Given the description of an element on the screen output the (x, y) to click on. 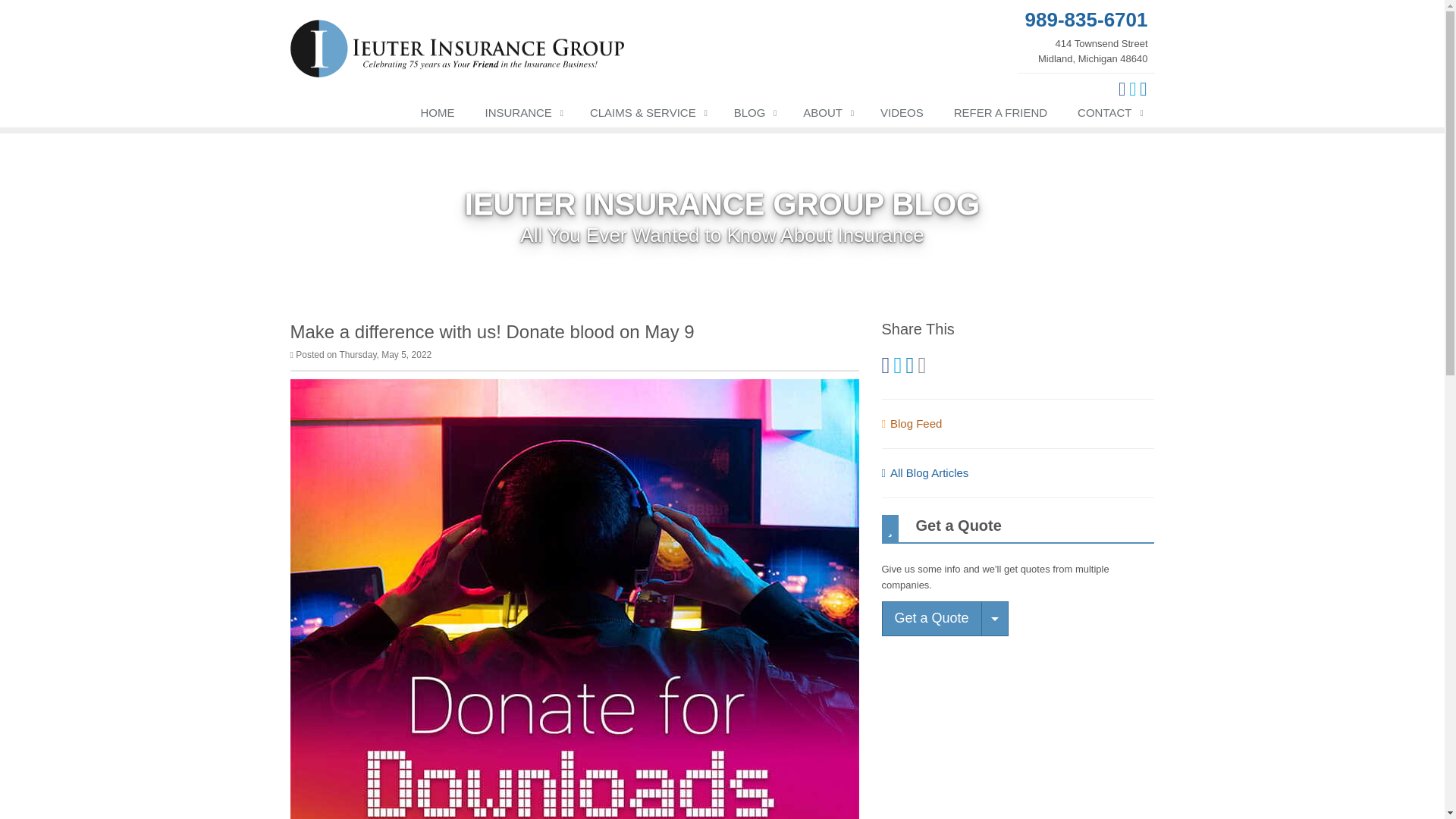
Toggle Dropdown (995, 618)
INSURANCE (522, 115)
CONTACT (1108, 115)
Blog Feed (911, 422)
ABOUT (825, 115)
VIDEOS (901, 115)
REFER A FRIEND (1000, 115)
HOME (438, 115)
All Blog Articles (924, 472)
Get a Quote (1085, 35)
BLOG (930, 618)
